Given the description of an element on the screen output the (x, y) to click on. 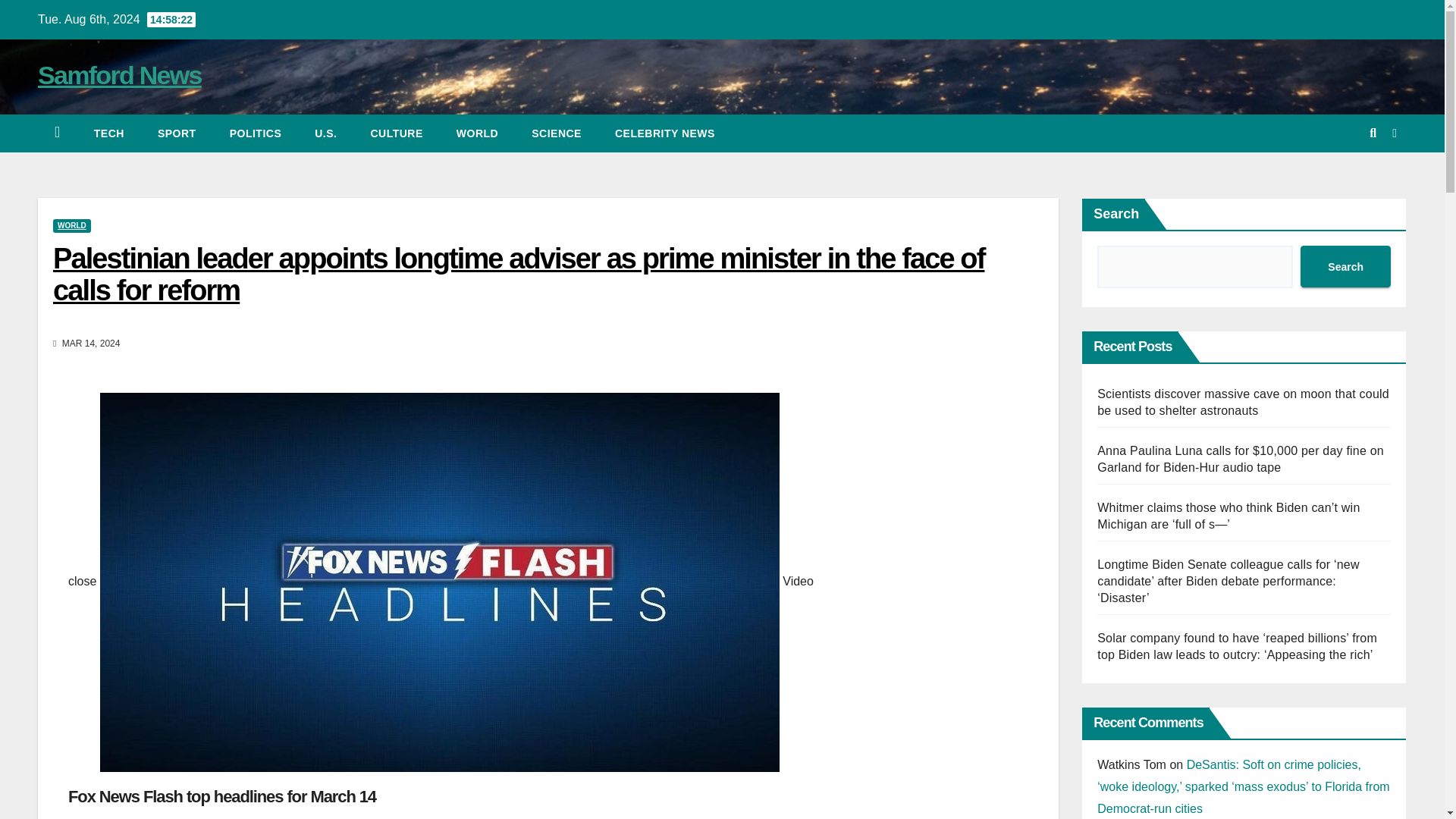
U.S. (325, 133)
WORLD (71, 225)
Politics (255, 133)
POLITICS (255, 133)
Culture (396, 133)
WORLD (477, 133)
Samford News (119, 74)
SCIENCE (556, 133)
SPORT (176, 133)
TECH (109, 133)
U.S. (325, 133)
CELEBRITY NEWS (665, 133)
